Given the description of an element on the screen output the (x, y) to click on. 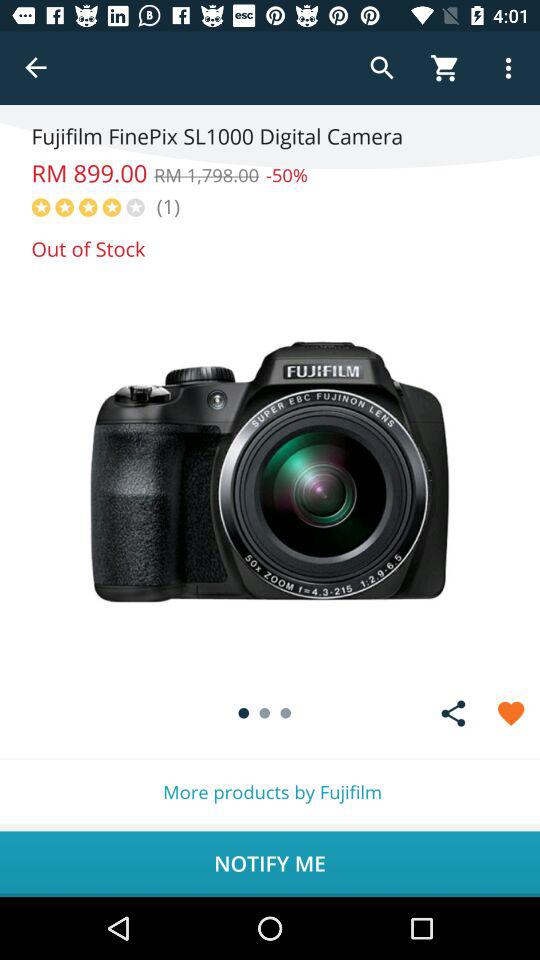
go back (36, 68)
